Given the description of an element on the screen output the (x, y) to click on. 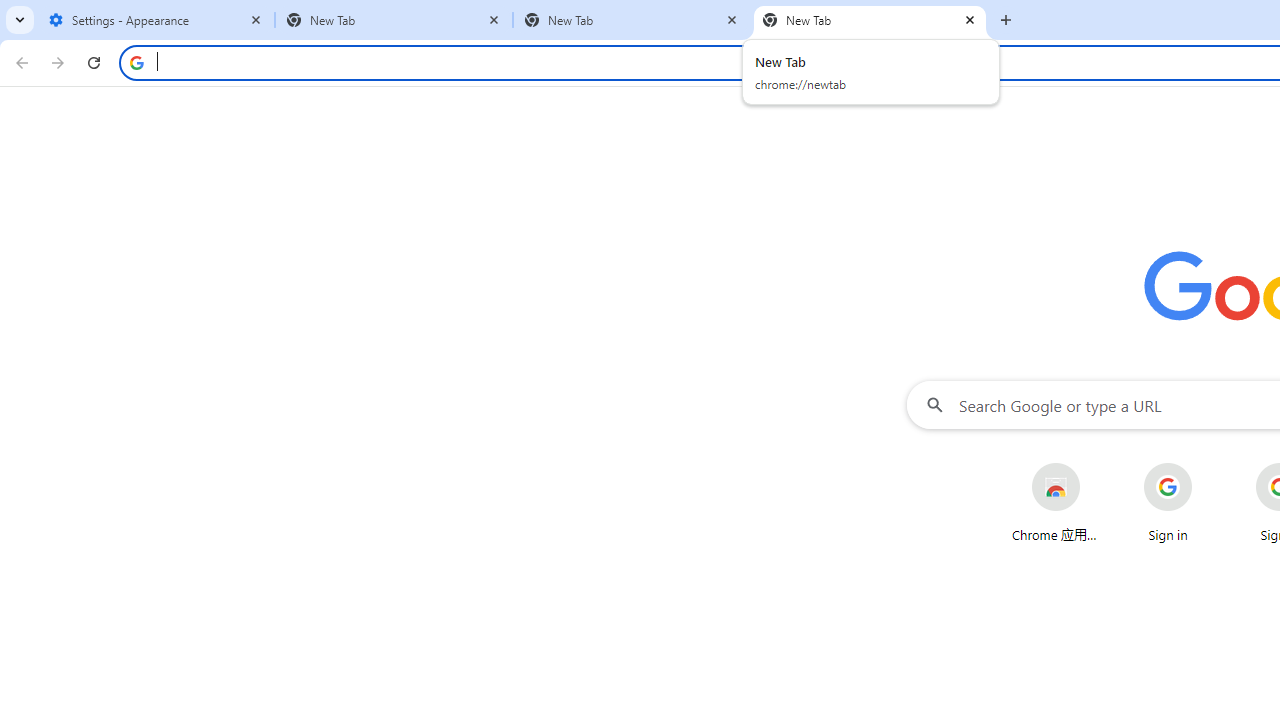
More actions for Sign in shortcut (1208, 464)
New Tab (870, 20)
New Tab (394, 20)
Settings - Appearance (156, 20)
